Given the description of an element on the screen output the (x, y) to click on. 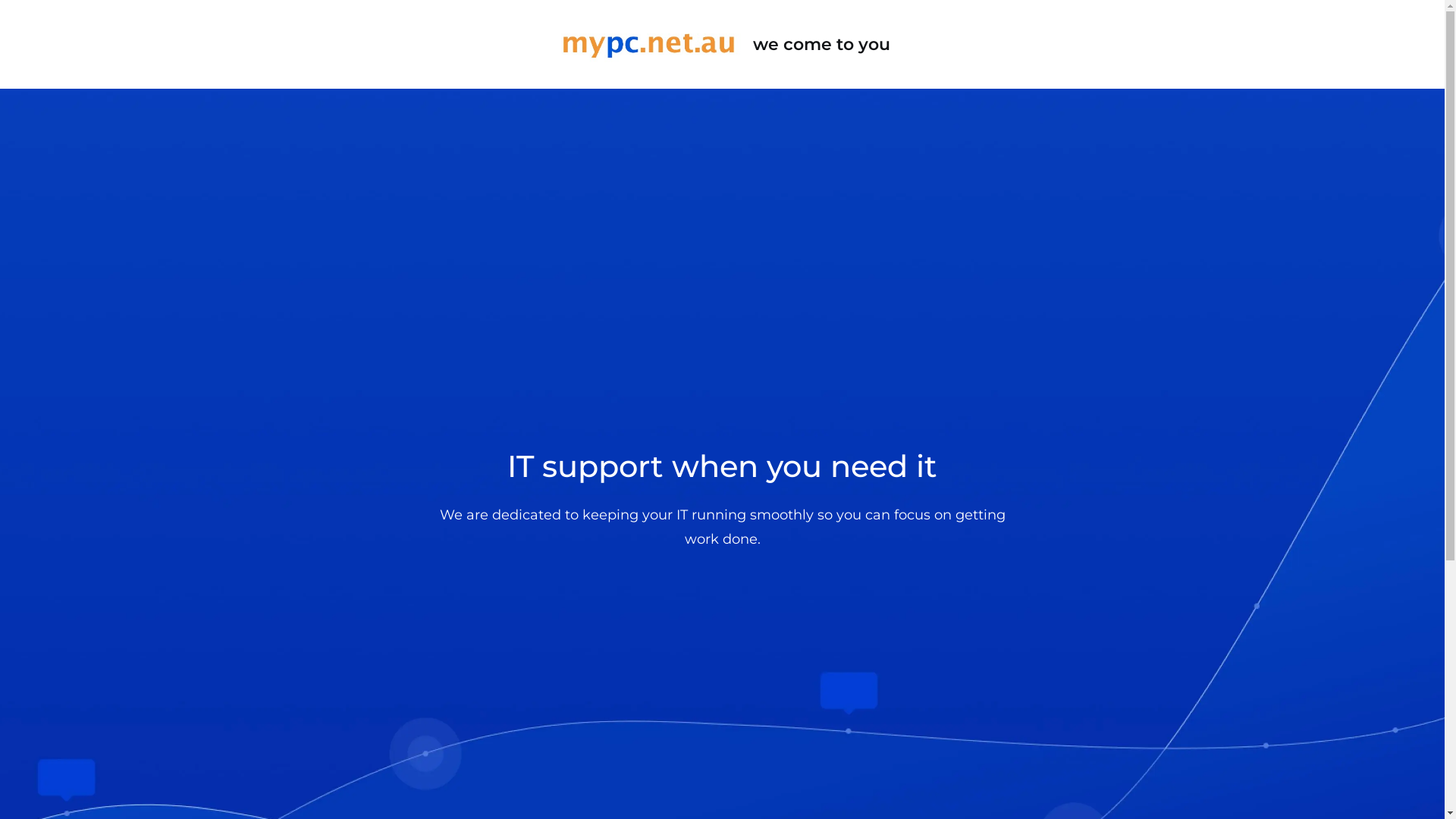
we come to you Element type: text (722, 44)
